Given the description of an element on the screen output the (x, y) to click on. 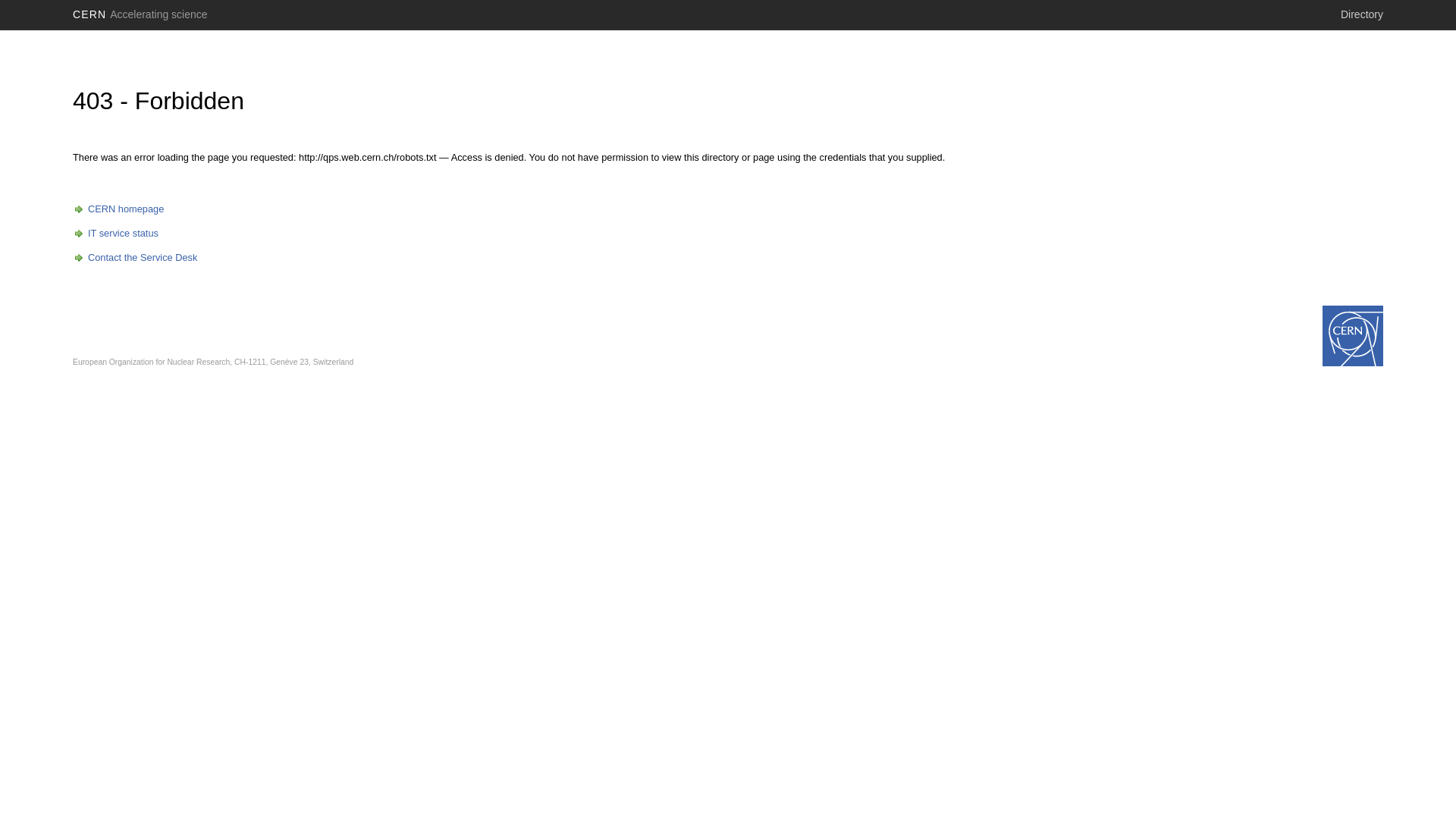
www.cern.ch Element type: hover (1352, 335)
Contact the Service Desk Element type: text (134, 257)
Directory Element type: text (1361, 14)
CERN homepage Element type: text (117, 208)
IT service status Element type: text (115, 232)
CERN Accelerating science Element type: text (139, 14)
